Given the description of an element on the screen output the (x, y) to click on. 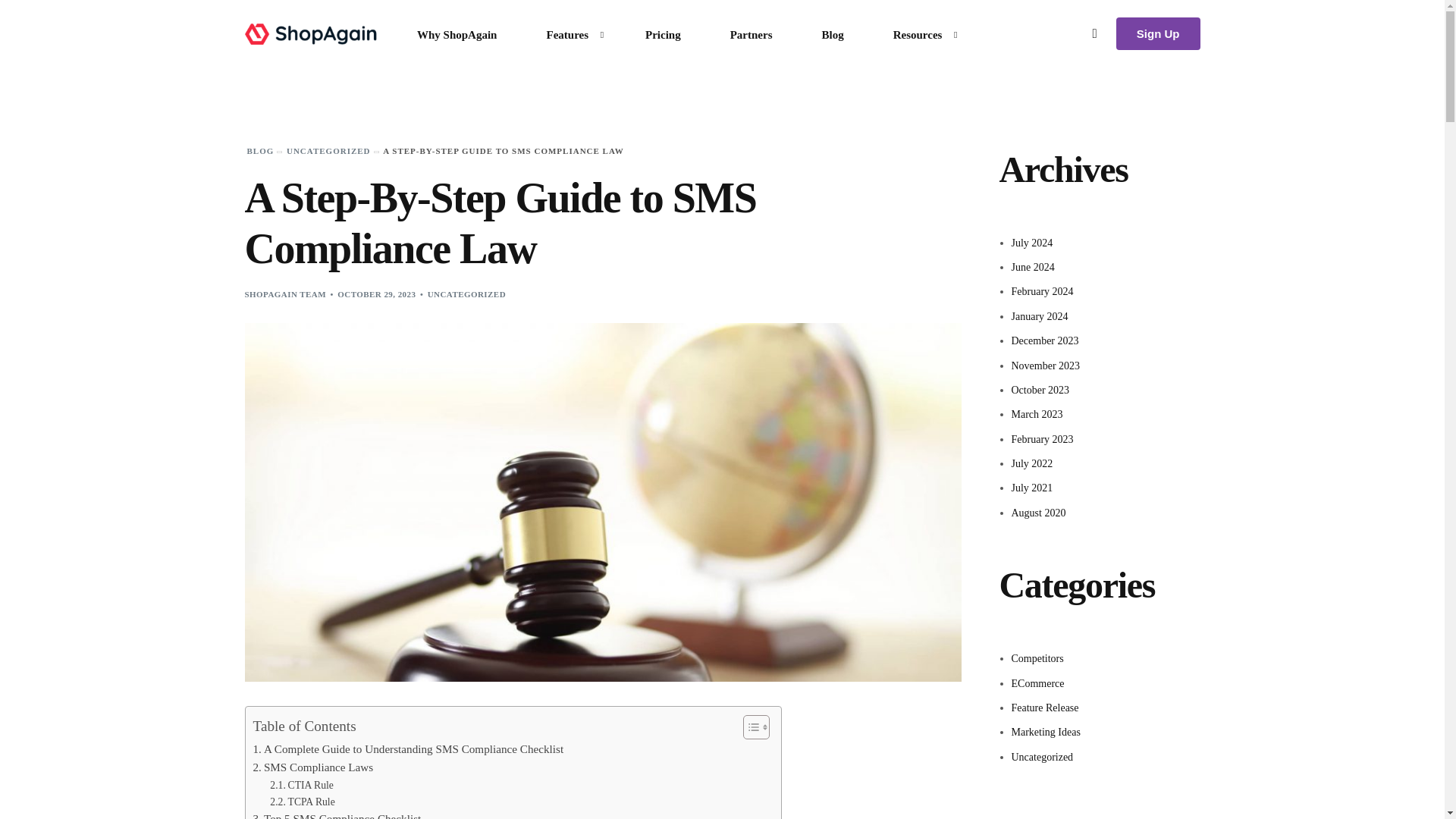
A Complete Guide to Understanding SMS Compliance Checklist (408, 749)
Top 5 SMS Compliance Checklist (337, 814)
SMS Compliance Laws (313, 767)
Sign Up (1157, 33)
Features (571, 33)
Posts by ShopAgain Team (285, 293)
CTIA Rule (301, 785)
CTIA Rule (301, 785)
SHOPAGAIN TEAM (285, 293)
UNCATEGORIZED (466, 293)
Blog (831, 33)
SMS Compliance Laws (313, 767)
Why ShopAgain (457, 33)
TCPA Rule (301, 801)
Pricing (663, 33)
